Given the description of an element on the screen output the (x, y) to click on. 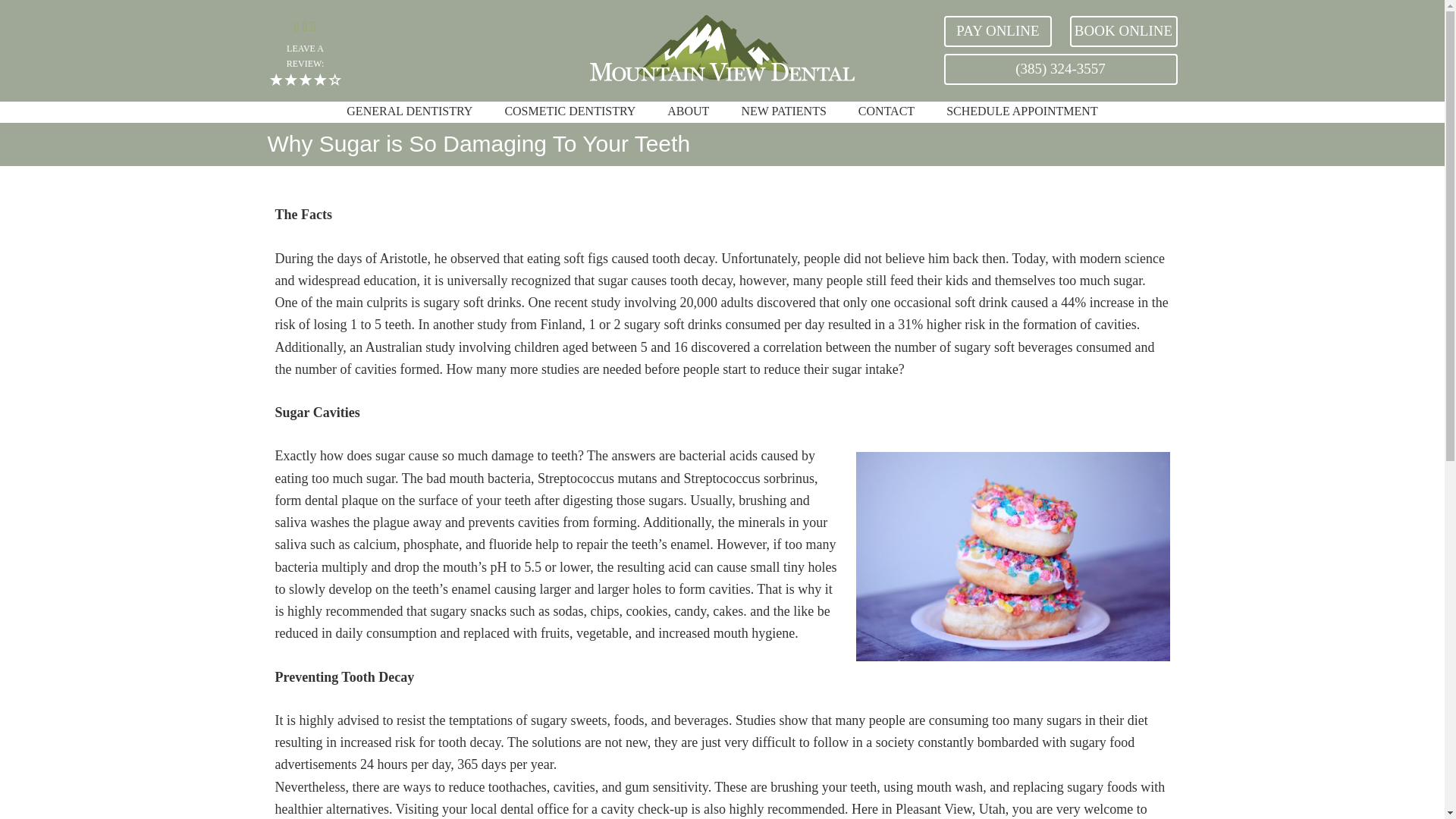
SCHEDULE APPOINTMENT (1021, 111)
CONTACT (886, 111)
Why Sugar Is So Damaging To Your Teeth (1012, 556)
BOOK ONLINE (1122, 30)
Review Stars (304, 79)
ABOUT (687, 111)
COSMETIC DENTISTRY (569, 111)
PAY ONLINE (997, 30)
GENERAL DENTISTRY (408, 111)
NEW PATIENTS (783, 111)
